Given the description of an element on the screen output the (x, y) to click on. 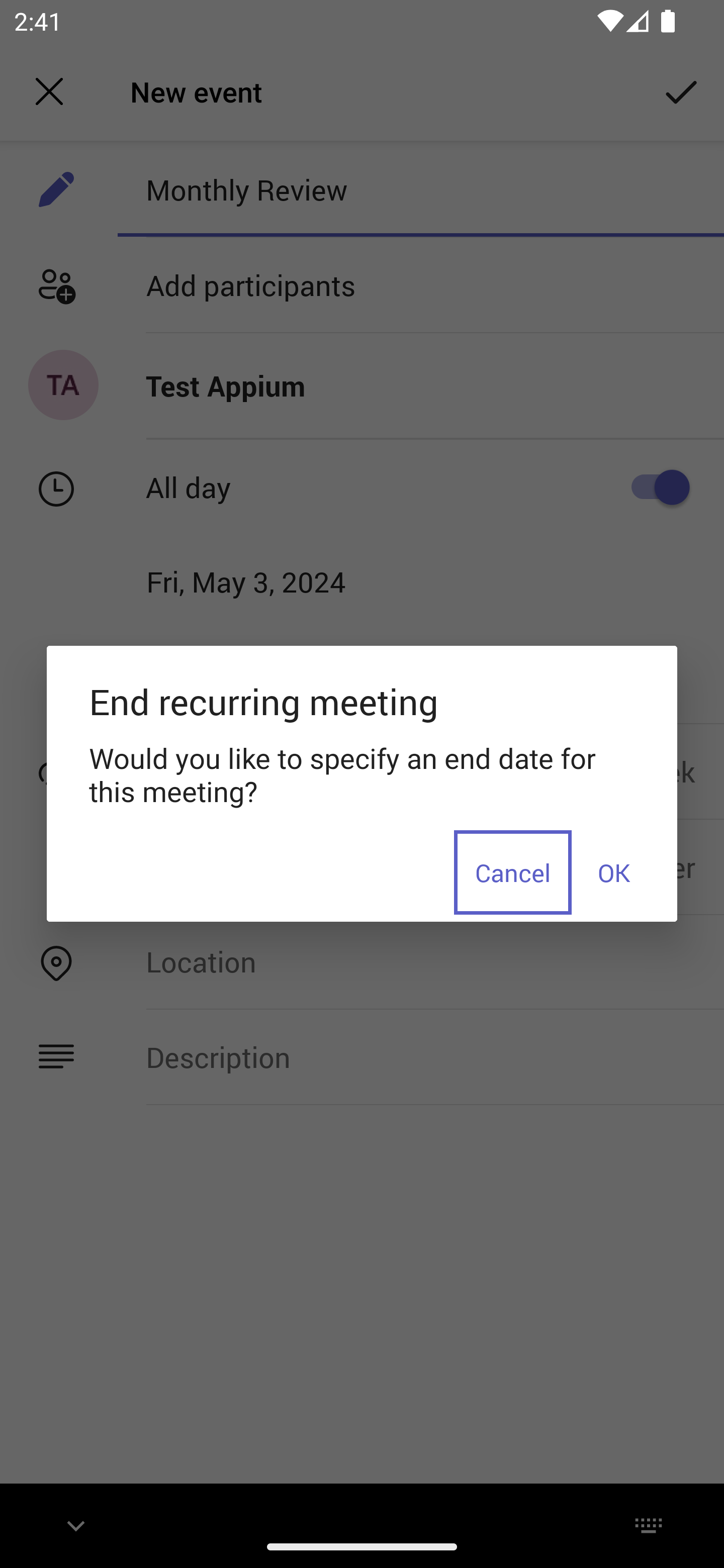
Cancel (512, 871)
OK (613, 871)
